Given the description of an element on the screen output the (x, y) to click on. 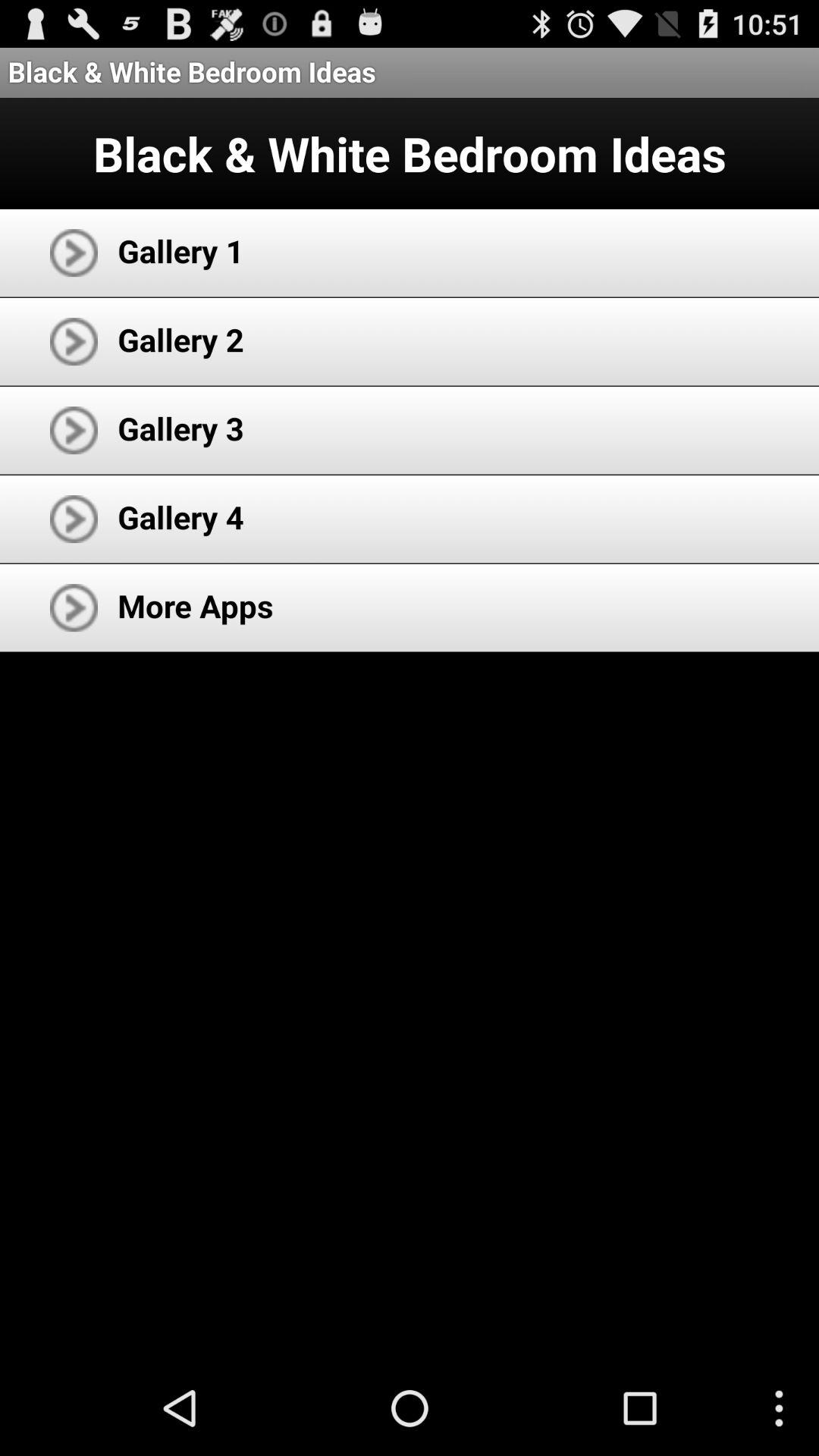
open item above the more apps (180, 516)
